Given the description of an element on the screen output the (x, y) to click on. 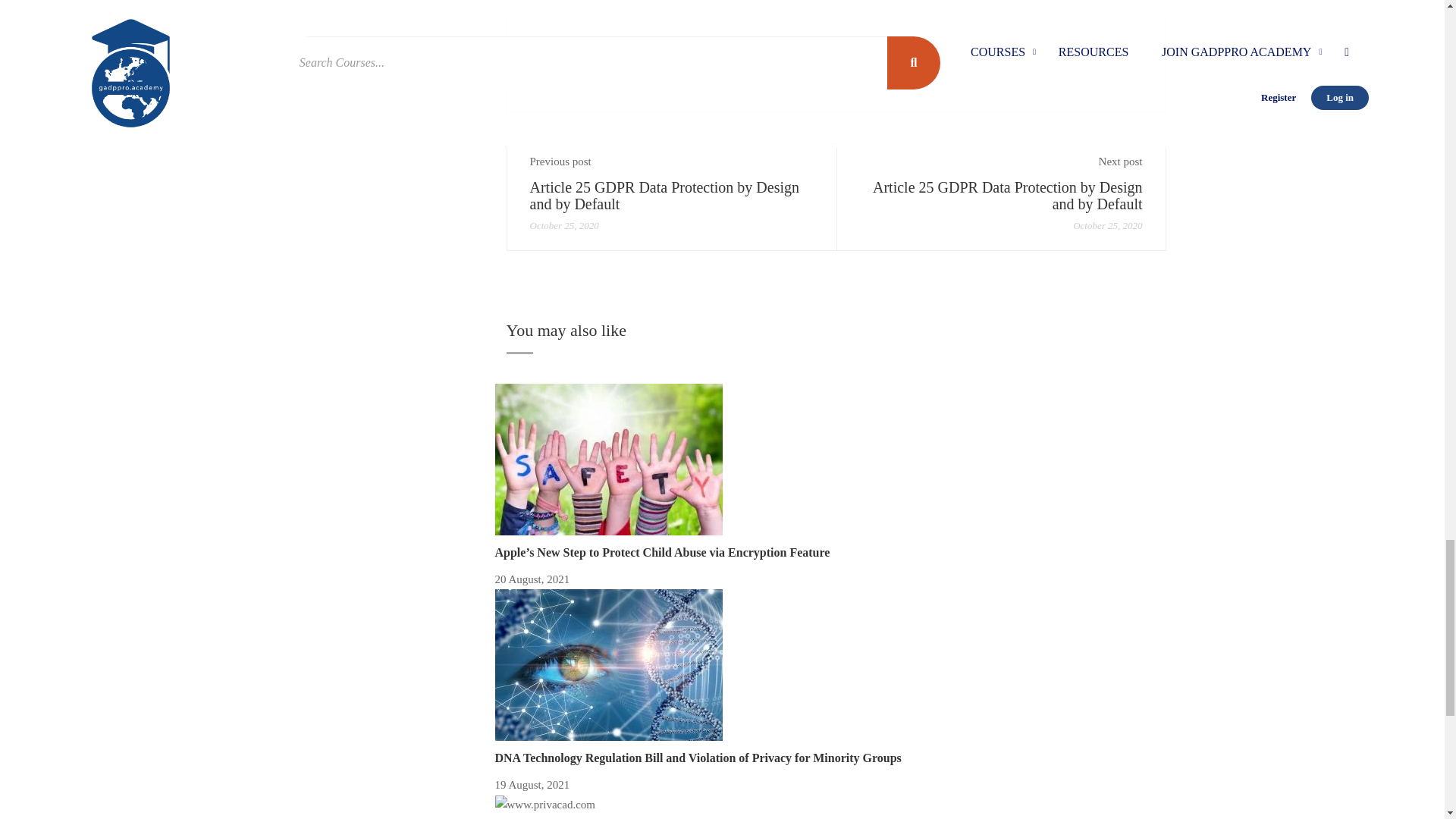
www.privacad.com (544, 804)
Children Safety Encryption www.privacad.com (608, 459)
DNA Technology and Privacy www.privacad.com (608, 664)
